Given the description of an element on the screen output the (x, y) to click on. 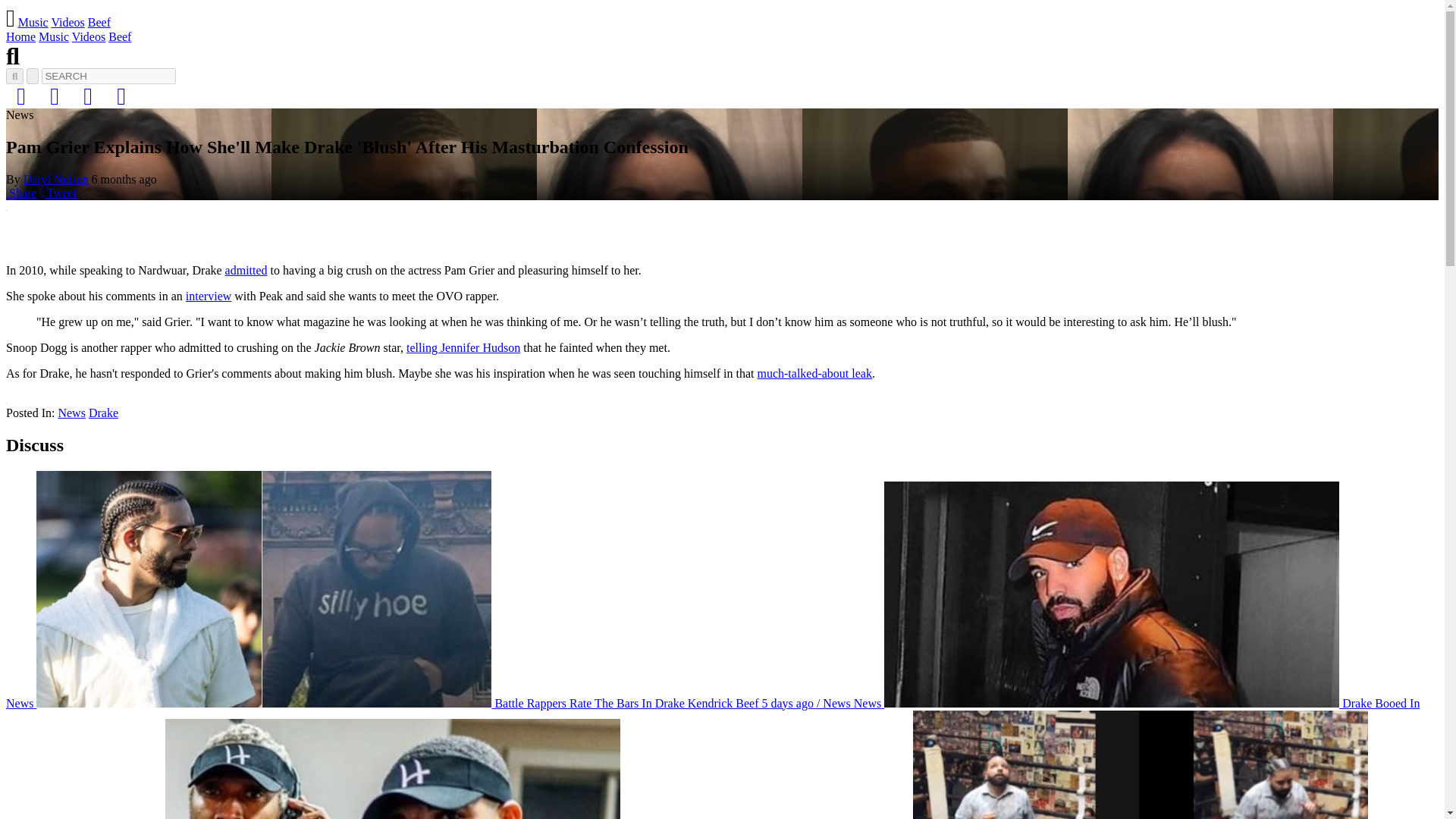
Tweet (57, 192)
Daryl Nelson (55, 178)
Music (53, 36)
Home (19, 36)
Beef (119, 36)
Videos (67, 21)
interview (208, 295)
Drake (102, 412)
Beef (98, 21)
Music (32, 21)
Share (20, 192)
admitted (246, 269)
Videos (87, 36)
much-talked-about leak (814, 373)
telling Jennifer Hudson (462, 347)
